Given the description of an element on the screen output the (x, y) to click on. 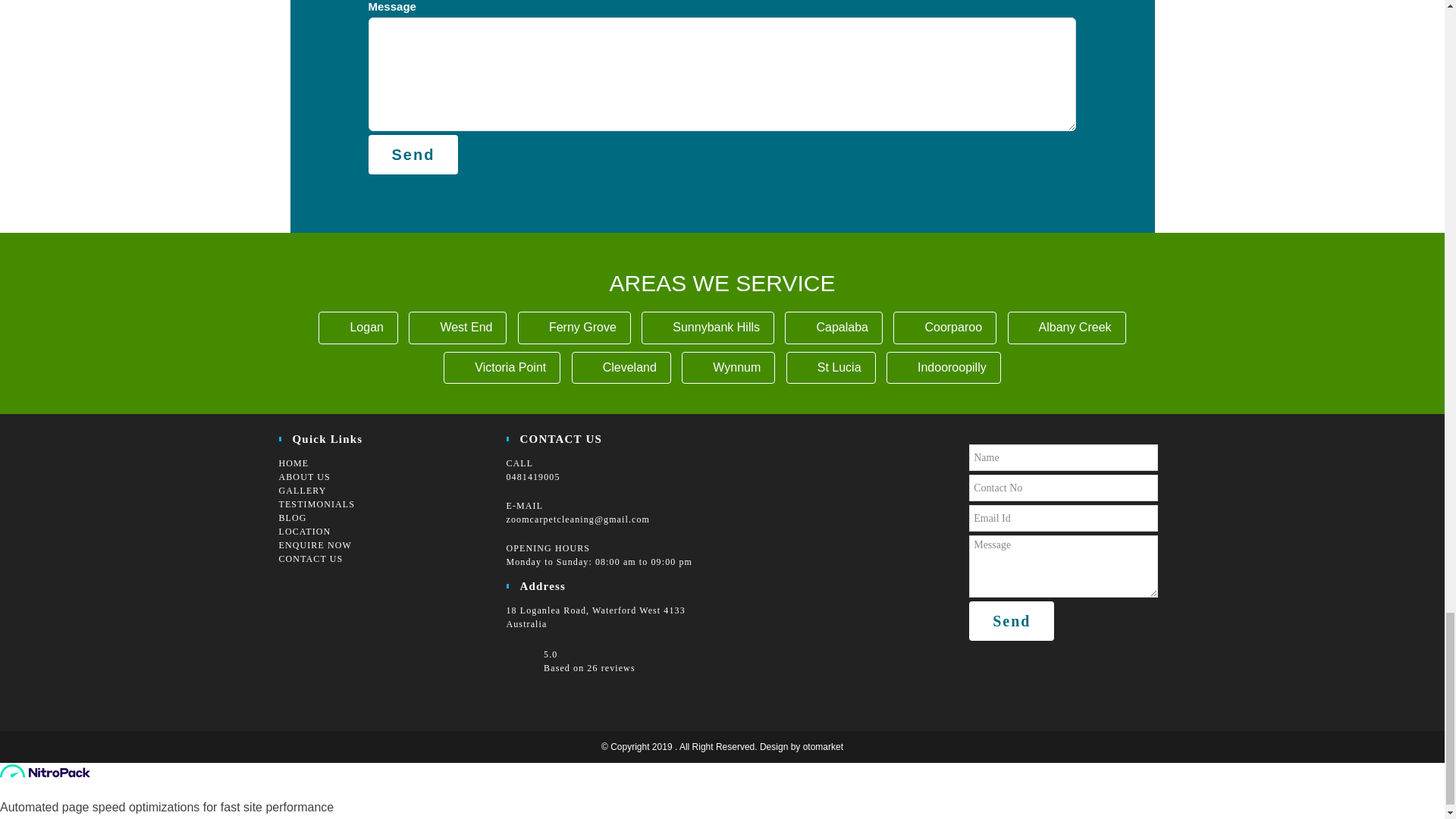
Visit Us On Facebook (290, 592)
Visit Us On Instagram (314, 592)
